Given the description of an element on the screen output the (x, y) to click on. 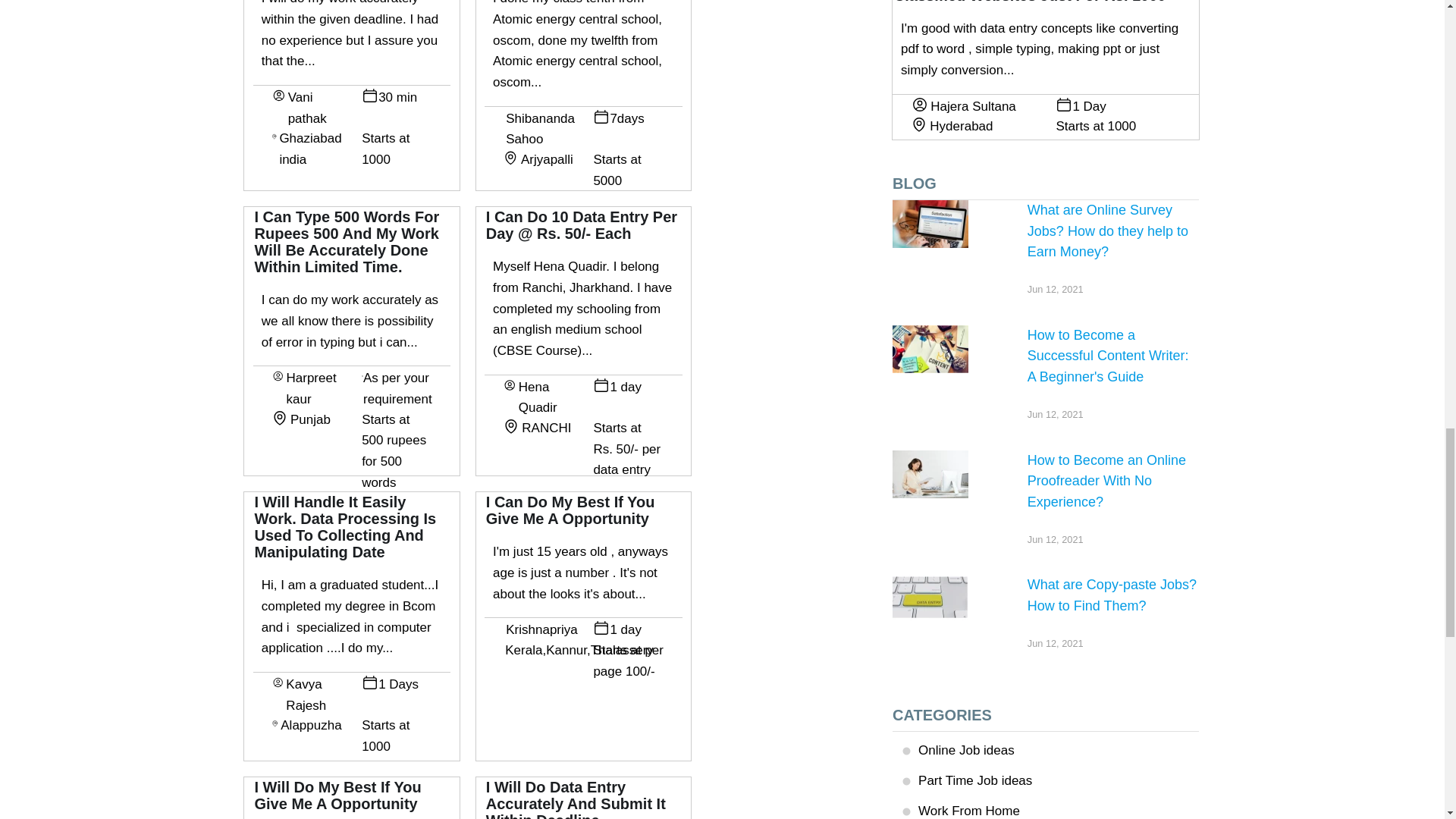
What are Online Survey Jobs? How do they help to Earn Money? (930, 223)
How to Become an Online Proofreader With No Experience? (930, 473)
What are Copy-paste Jobs? How to Find Them? (930, 598)
